Given the description of an element on the screen output the (x, y) to click on. 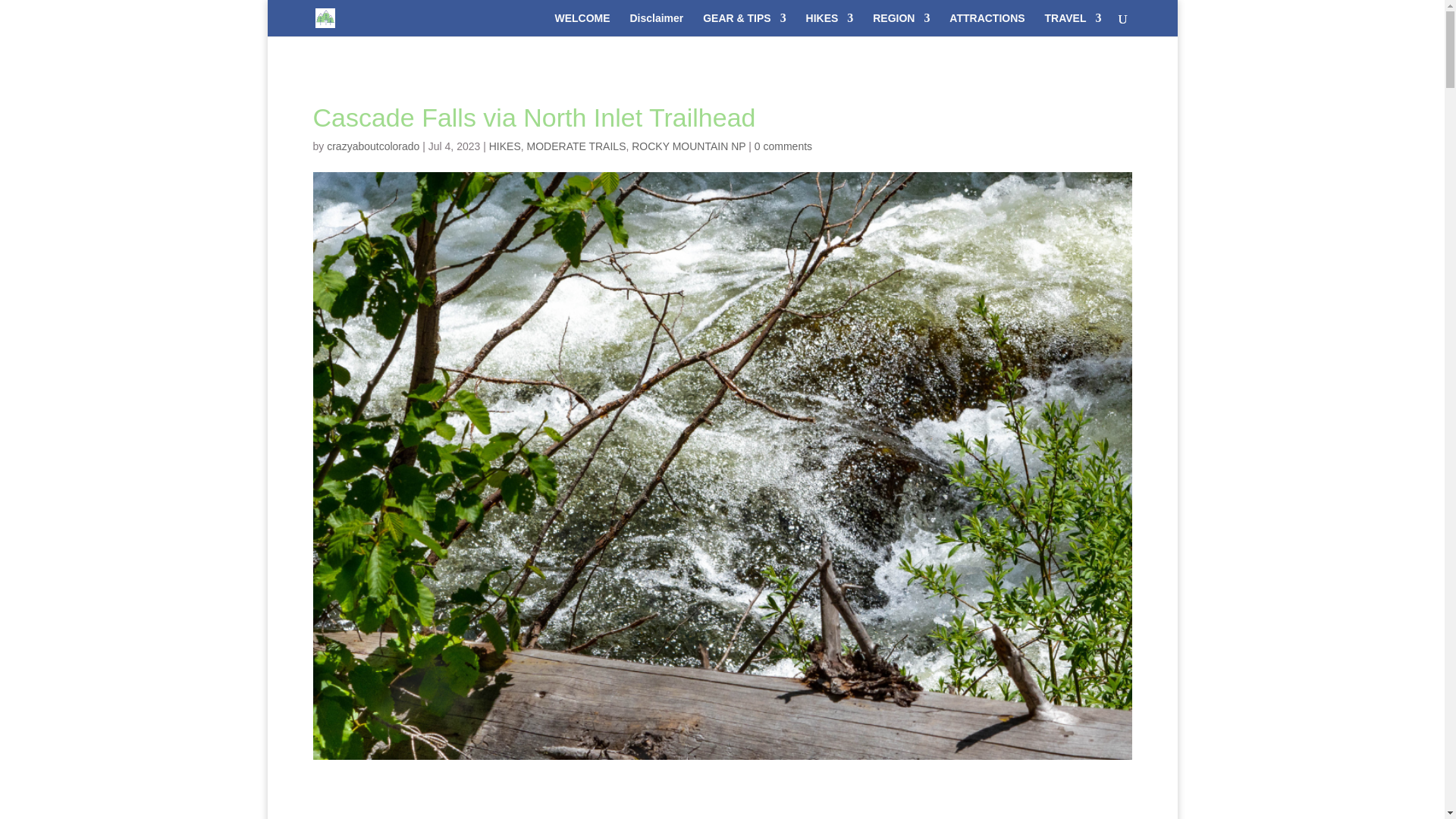
HIKES (829, 24)
WELCOME (582, 24)
REGION (901, 24)
Posts by crazyaboutcolorado (372, 146)
Disclaimer (655, 24)
TRAVEL (1073, 24)
ATTRACTIONS (987, 24)
